Given the description of an element on the screen output the (x, y) to click on. 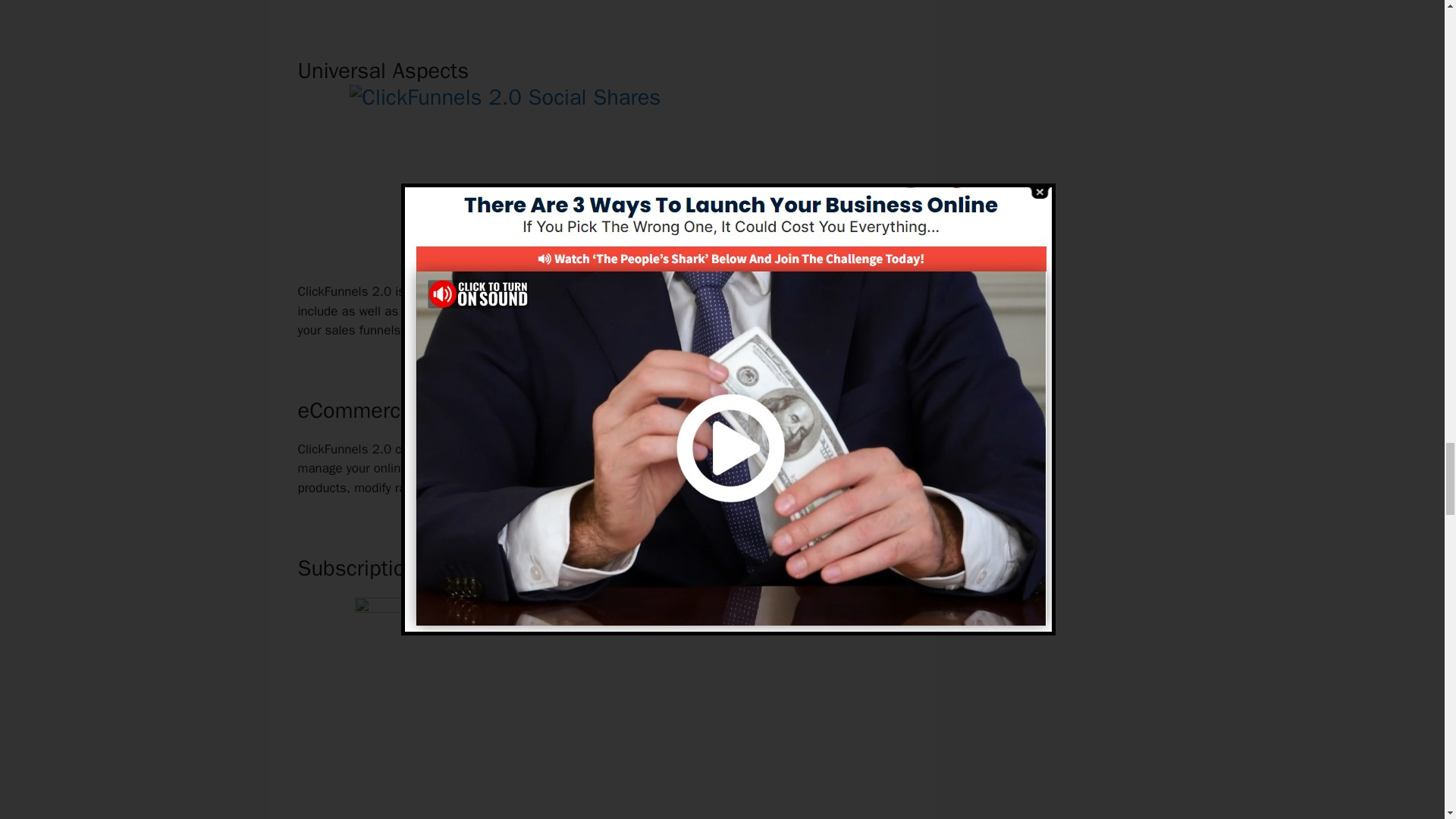
eCommerce (530, 467)
